Given the description of an element on the screen output the (x, y) to click on. 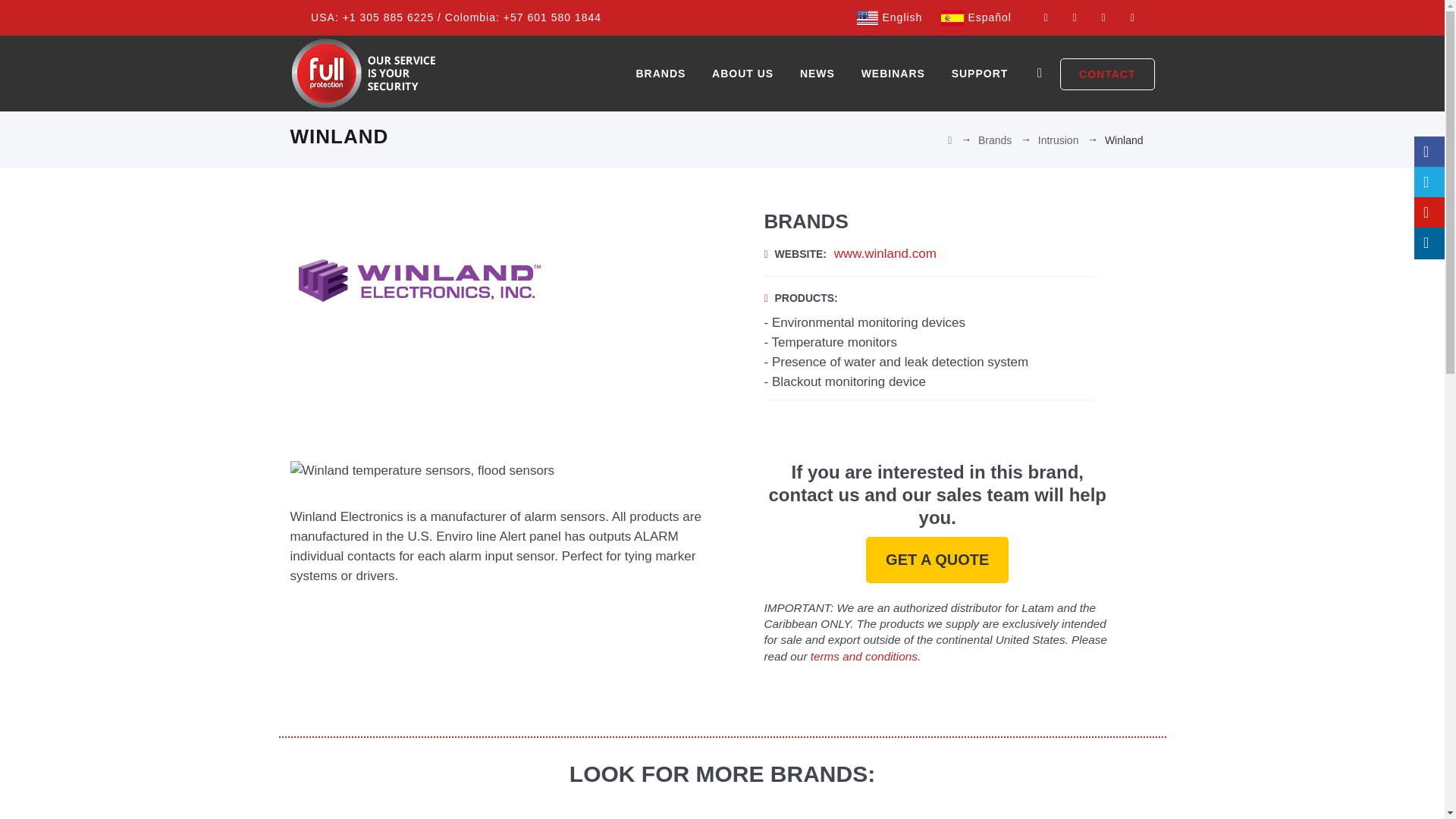
English (867, 17)
Go to the Intrusion Service Category archives. (1058, 139)
GET A QUOTE (937, 560)
English (889, 17)
FULL PROTECTION (367, 73)
CONTACT (1106, 74)
winland-security-systems-intrusion (421, 470)
Go to Brands. (994, 139)
